Given the description of an element on the screen output the (x, y) to click on. 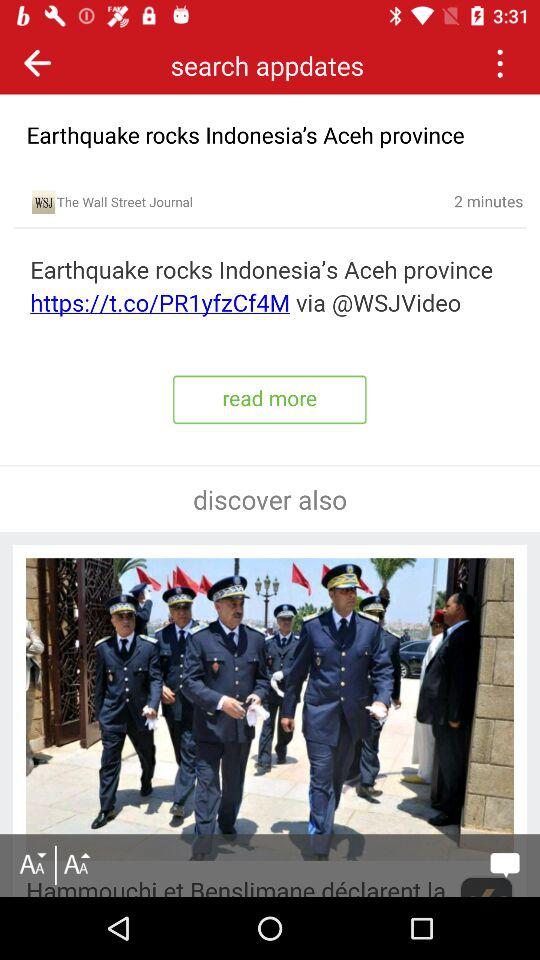
apps (499, 62)
